Given the description of an element on the screen output the (x, y) to click on. 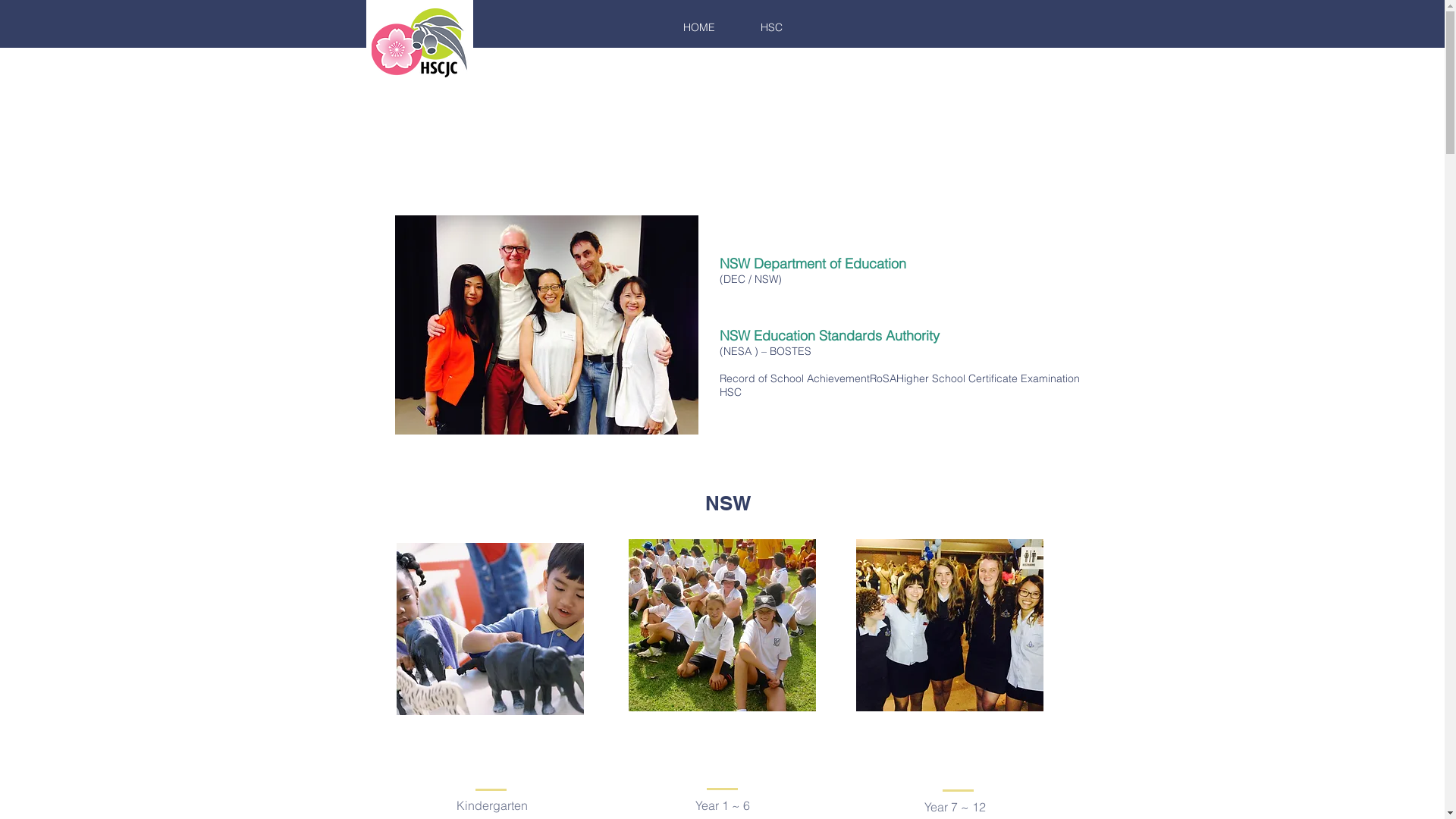
HOME Element type: text (698, 27)
